Given the description of an element on the screen output the (x, y) to click on. 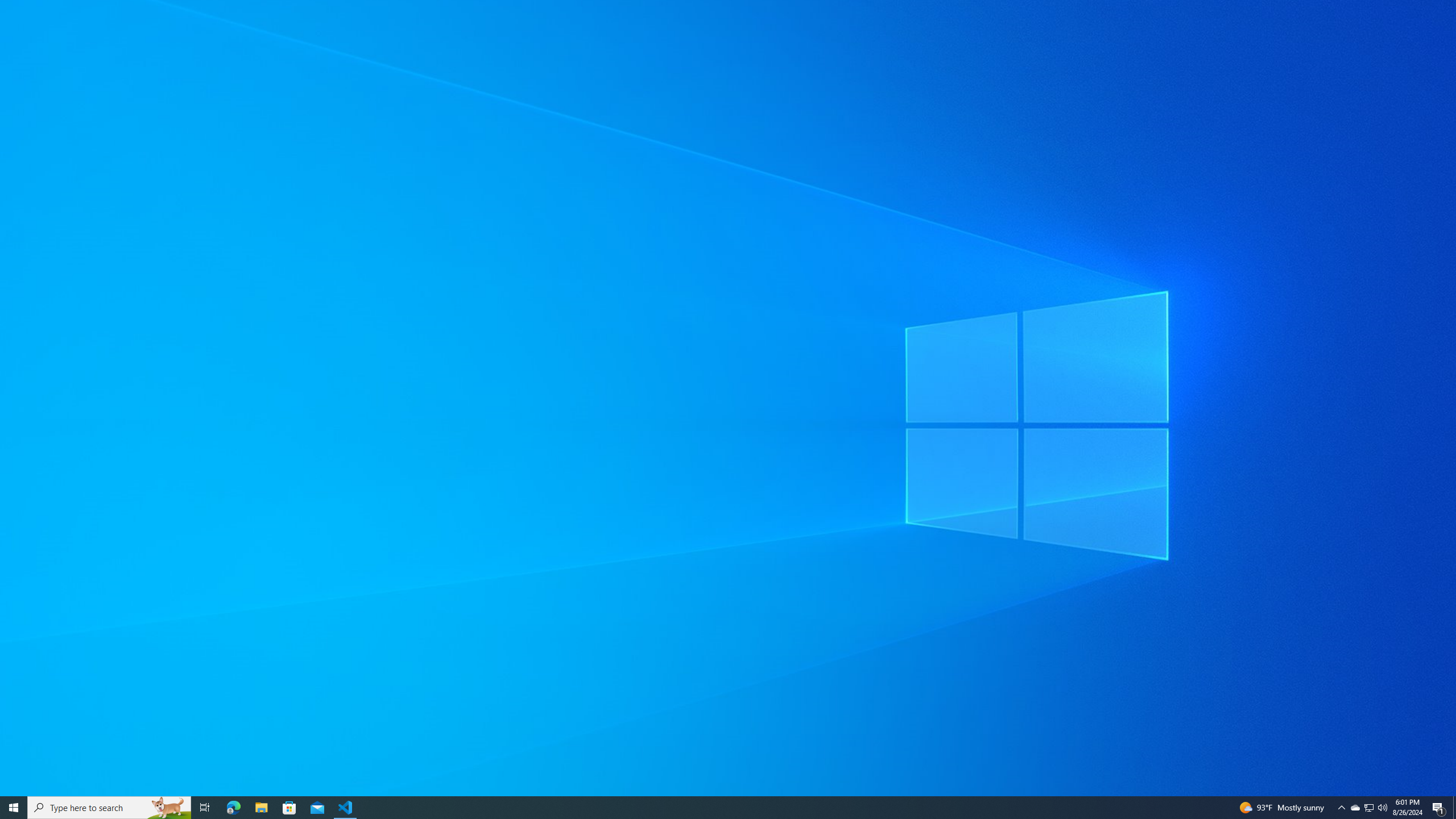
Running applications (717, 807)
Search highlights icon opens search home window (167, 807)
User Promoted Notification Area (1368, 807)
Action Center, 1 new notification (1439, 807)
Microsoft Edge (233, 807)
Microsoft Store (289, 807)
Type here to search (108, 807)
Notification Chevron (1355, 807)
Task View (1341, 807)
Visual Studio Code - 1 running window (204, 807)
File Explorer (1368, 807)
